Given the description of an element on the screen output the (x, y) to click on. 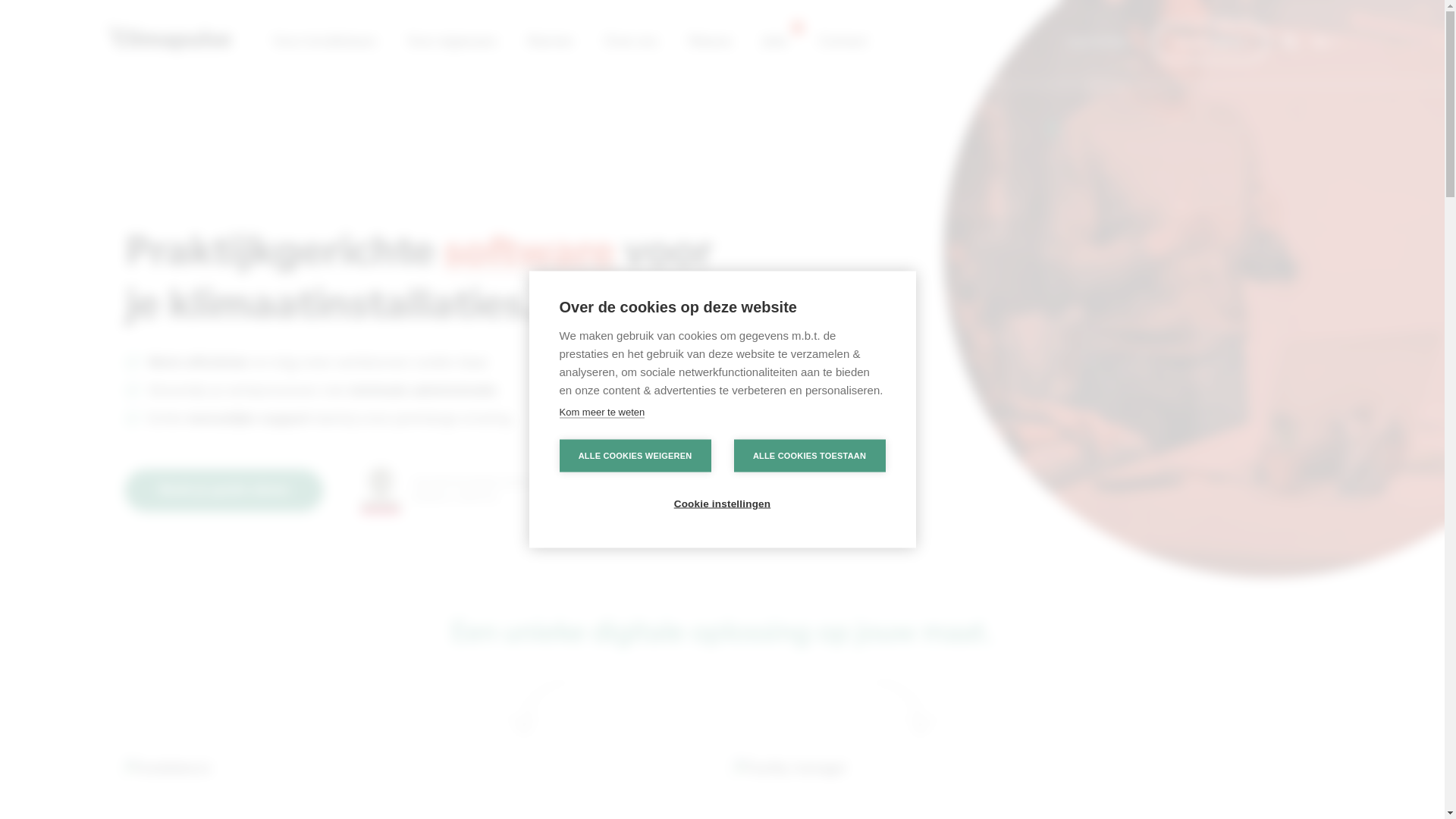
Cookie instellingen Element type: text (721, 502)
Boek demo Element type: text (1209, 41)
Over ons Element type: text (630, 41)
Contact Element type: text (842, 41)
Voor eigenaars Element type: text (452, 41)
Nieuws Element type: text (709, 41)
Aanmelden Element type: text (1097, 41)
Jobs Element type: text (774, 41)
GECERTIFICEERD DOOR BUREAU VERITAS Element type: text (450, 489)
Kom meer te weten Element type: text (602, 412)
Voor installateurs Element type: text (323, 41)
ALLE COOKIES WEIGEREN Element type: text (635, 455)
Zoeken Element type: text (920, 185)
Klanten Element type: text (549, 41)
Boek je gratis demo Element type: text (224, 489)
Nederland Element type: text (806, 483)
ALLE COOKIES TOESTAAN Element type: text (809, 455)
